Given the description of an element on the screen output the (x, y) to click on. 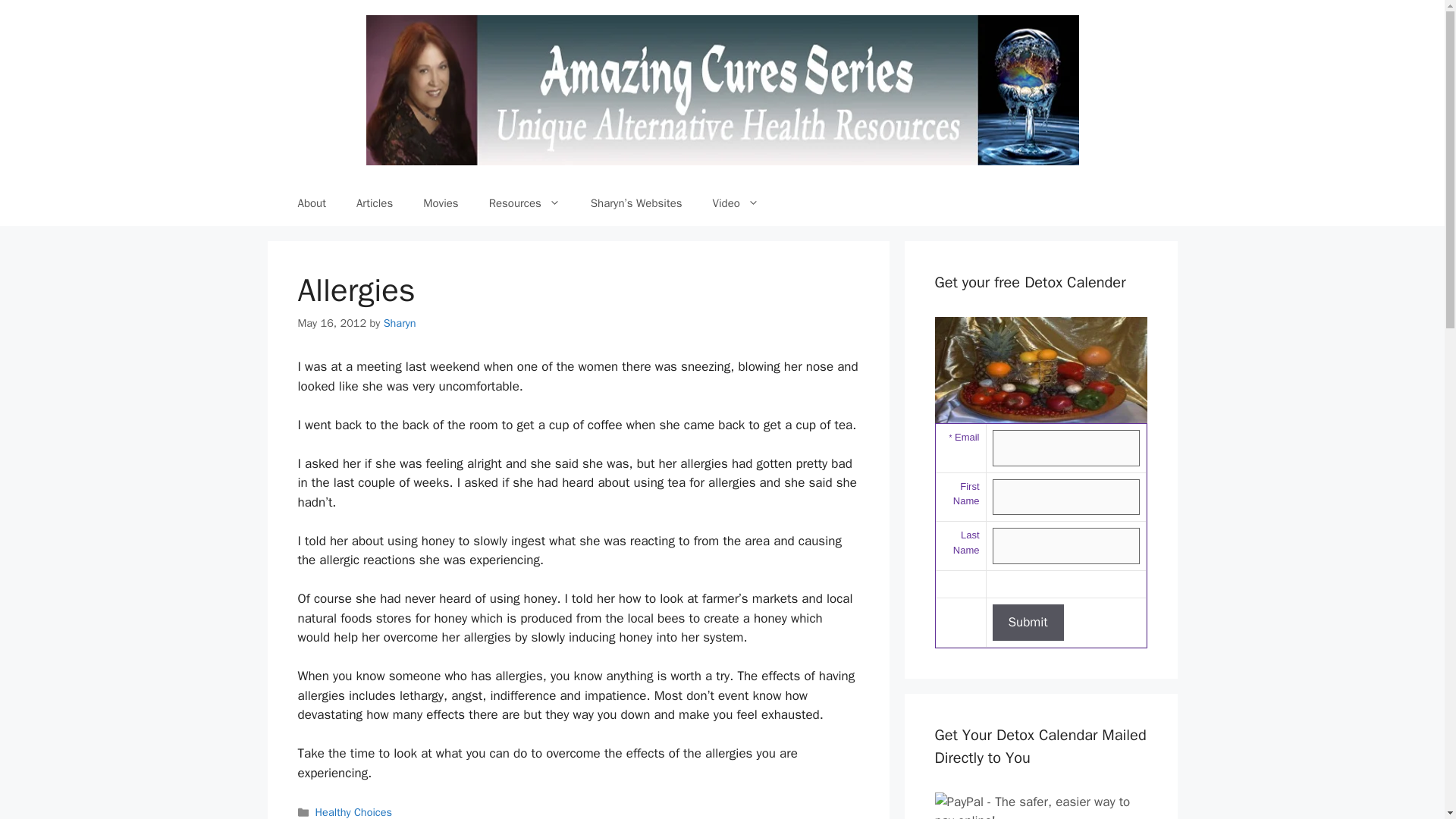
Resources (524, 203)
imageDG5 (1040, 369)
Articles (373, 203)
About (311, 203)
Submit (1026, 622)
View all posts by Sharyn (400, 323)
Movies (440, 203)
